Given the description of an element on the screen output the (x, y) to click on. 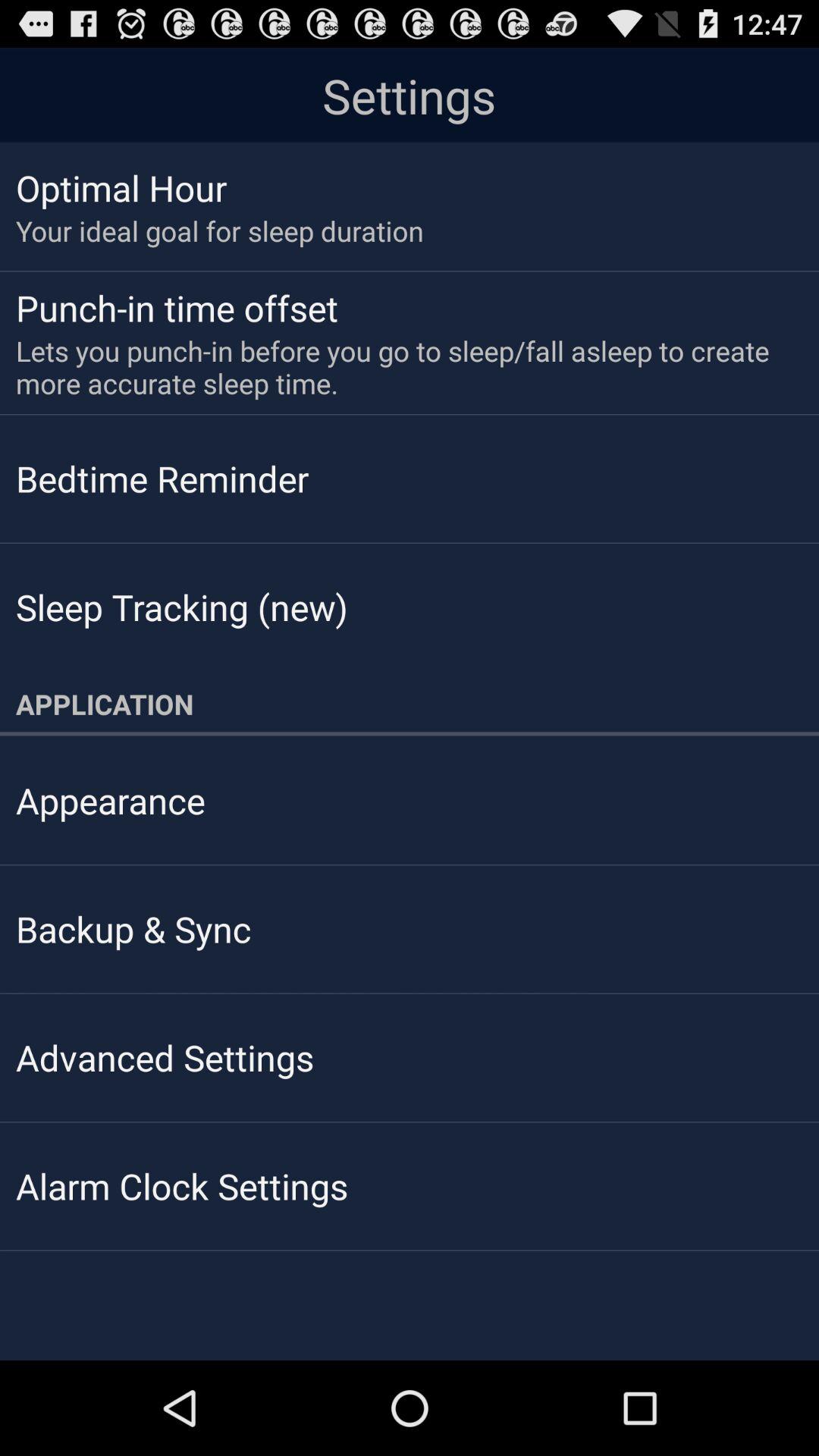
turn off sleep tracking (new) (181, 606)
